Given the description of an element on the screen output the (x, y) to click on. 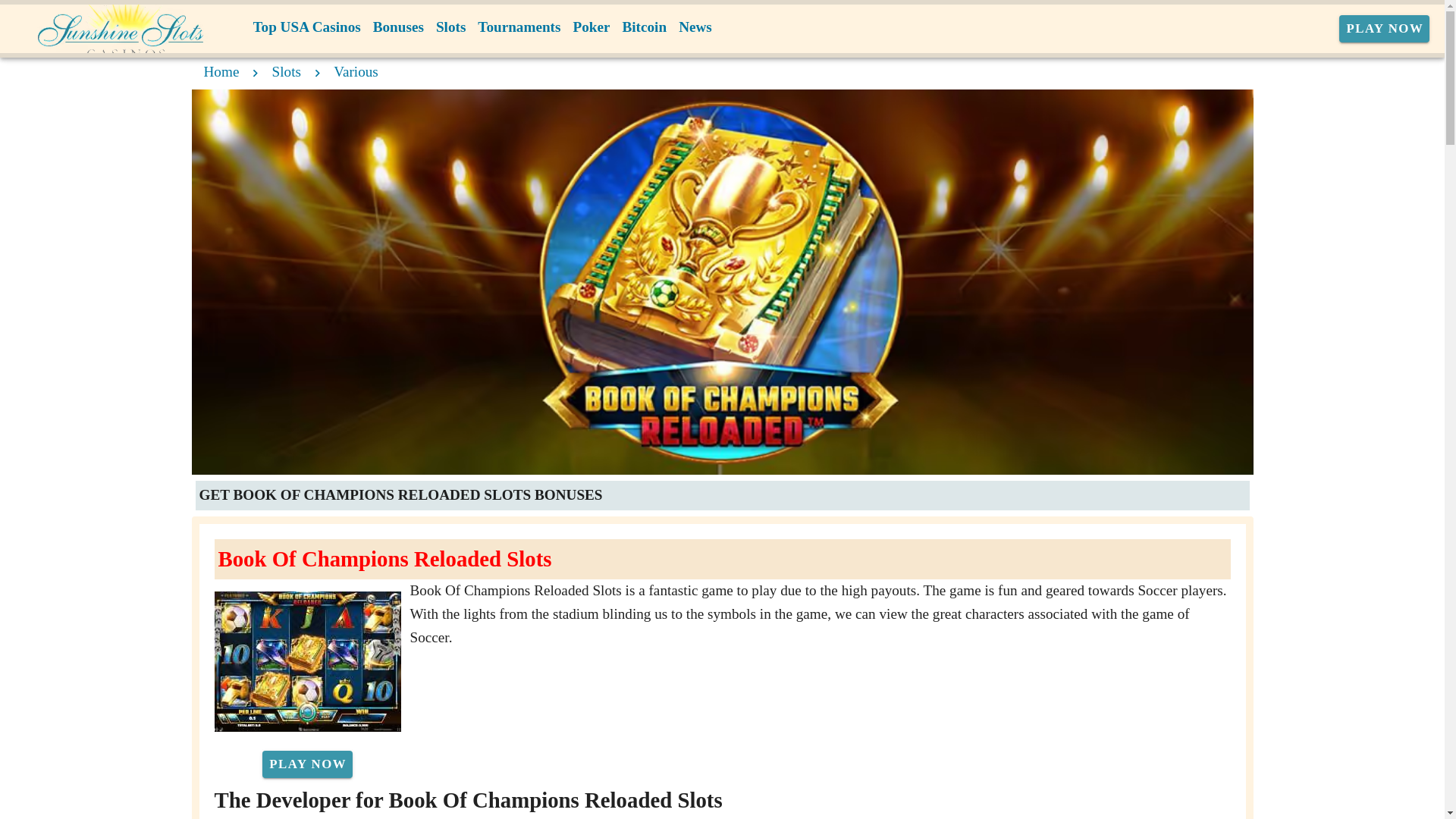
Bitcoin (643, 27)
Tournaments (518, 27)
Various (355, 71)
Poker (590, 27)
Slots (286, 71)
PLAY NOW (307, 764)
Home (220, 71)
Slots (450, 27)
News (694, 27)
PLAY NOW (1384, 28)
Top USA Casinos (306, 27)
Bonuses (397, 27)
